Given the description of an element on the screen output the (x, y) to click on. 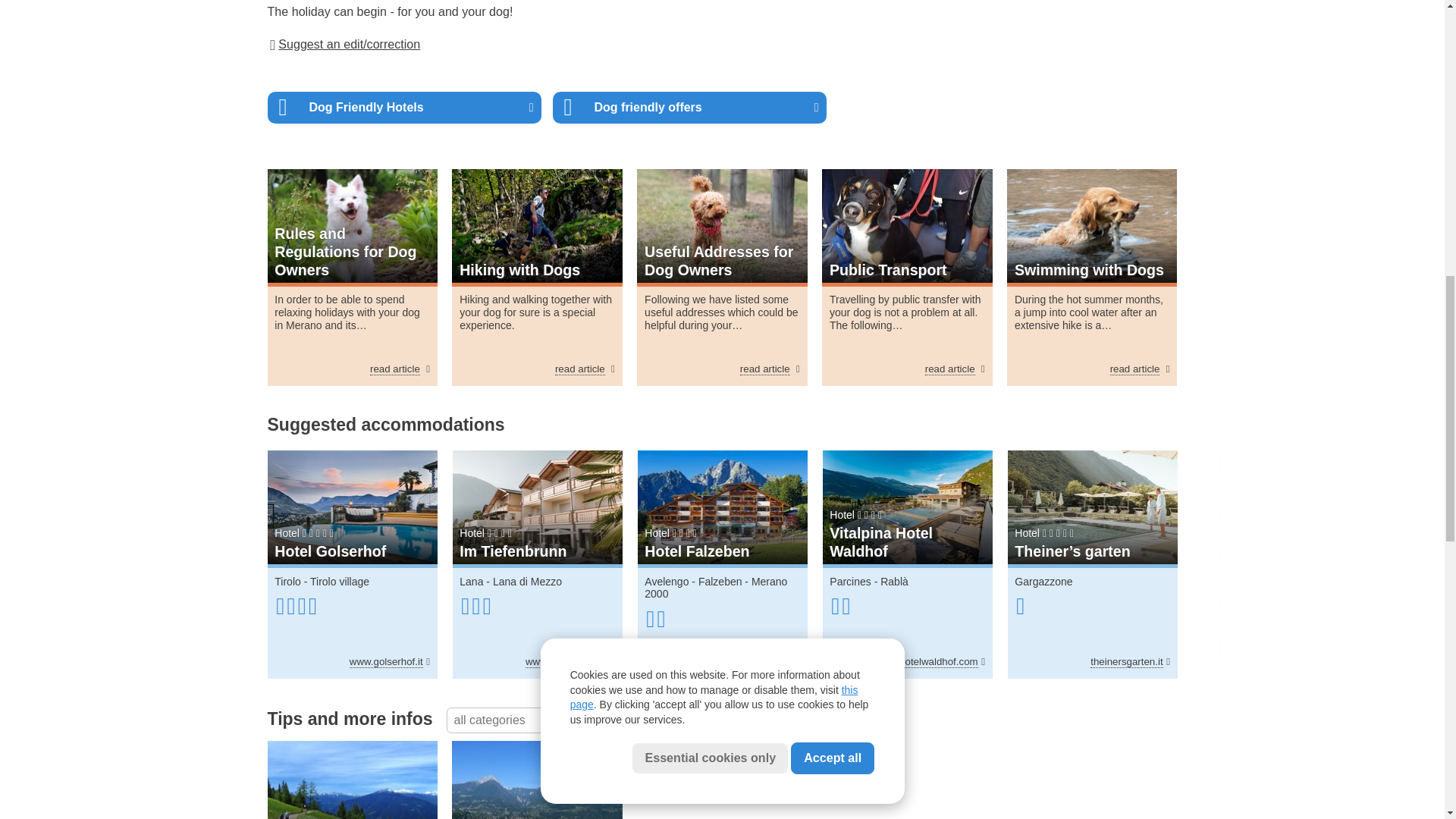
read article (954, 368)
read article (769, 368)
read article (399, 368)
Public Transport - read article (954, 368)
Dog Friendly Hotels (403, 107)
Wandern mit Hund - Meranerland (536, 225)
read article (584, 368)
read article (1139, 368)
Rules and Regulations for Dog Owners - read article (399, 368)
Hiking with Dogs - read article (584, 368)
Dog Friendly Hotels: Hotels and apartments (403, 107)
Useful Addresses for Dog Owners - read article (769, 368)
Nuetzliche Adressen fuer Hundehalter - Meranerland (721, 225)
Dog friendly offers (688, 107)
Holiday packages: Dog Friendly Hotels (688, 107)
